Given the description of an element on the screen output the (x, y) to click on. 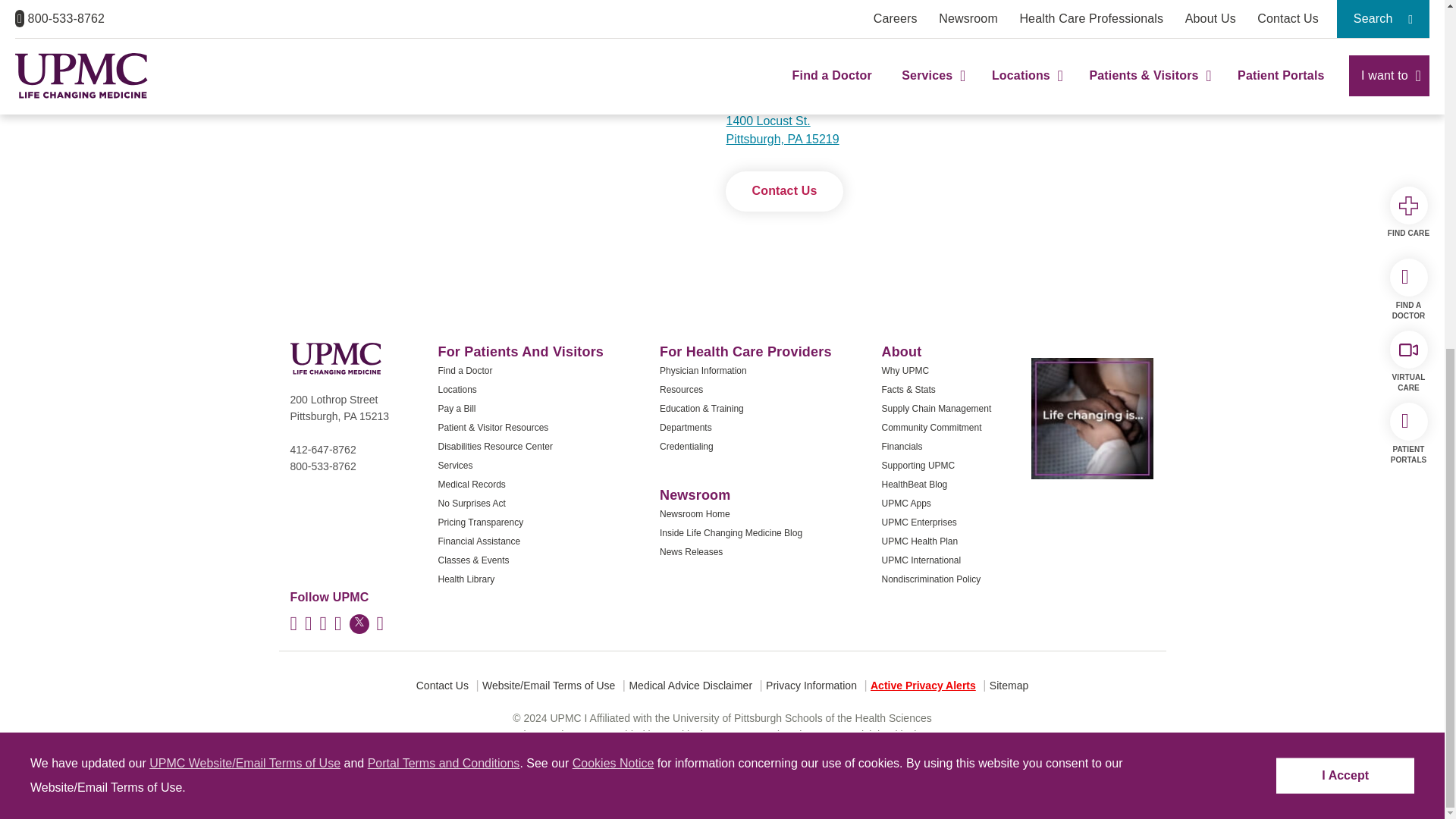
Portal Terms and Conditions (443, 160)
Cookies Notice (612, 160)
I Accept (1344, 172)
